Given the description of an element on the screen output the (x, y) to click on. 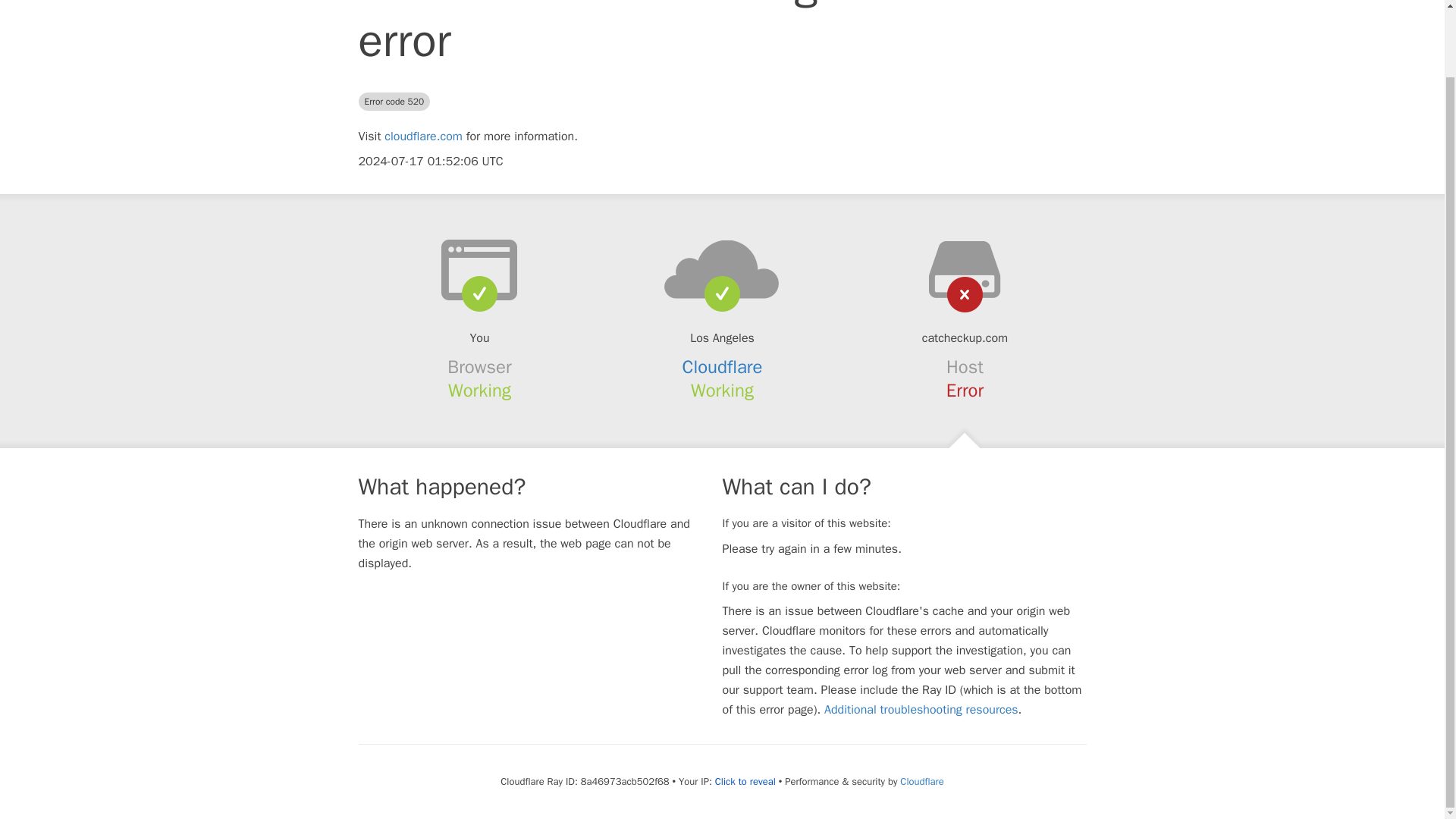
cloudflare.com (423, 136)
Cloudflare (921, 780)
Additional troubleshooting resources (920, 709)
Click to reveal (745, 781)
Cloudflare (722, 366)
